Given the description of an element on the screen output the (x, y) to click on. 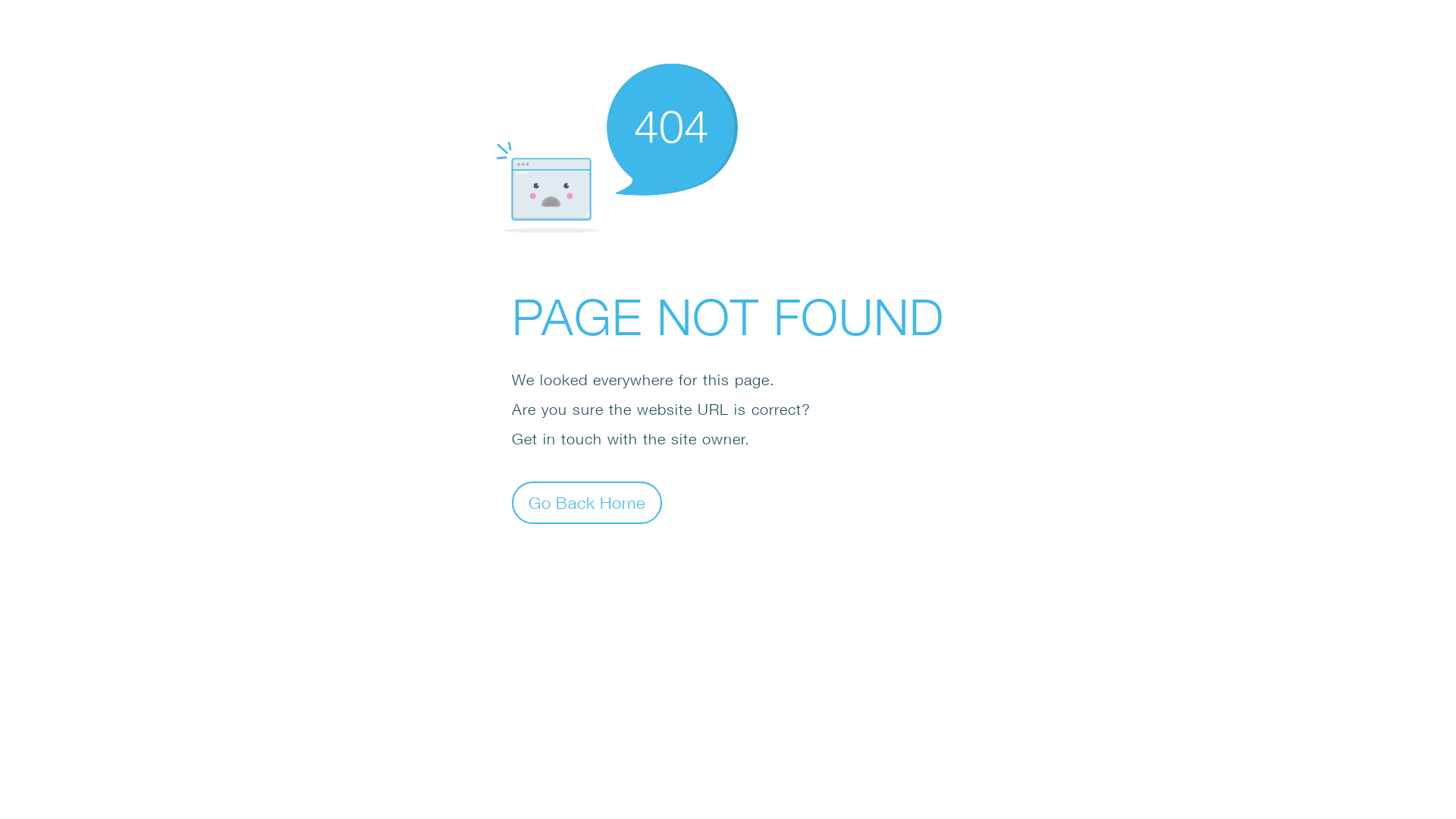
Go Back Home Element type: text (586, 502)
